Given the description of an element on the screen output the (x, y) to click on. 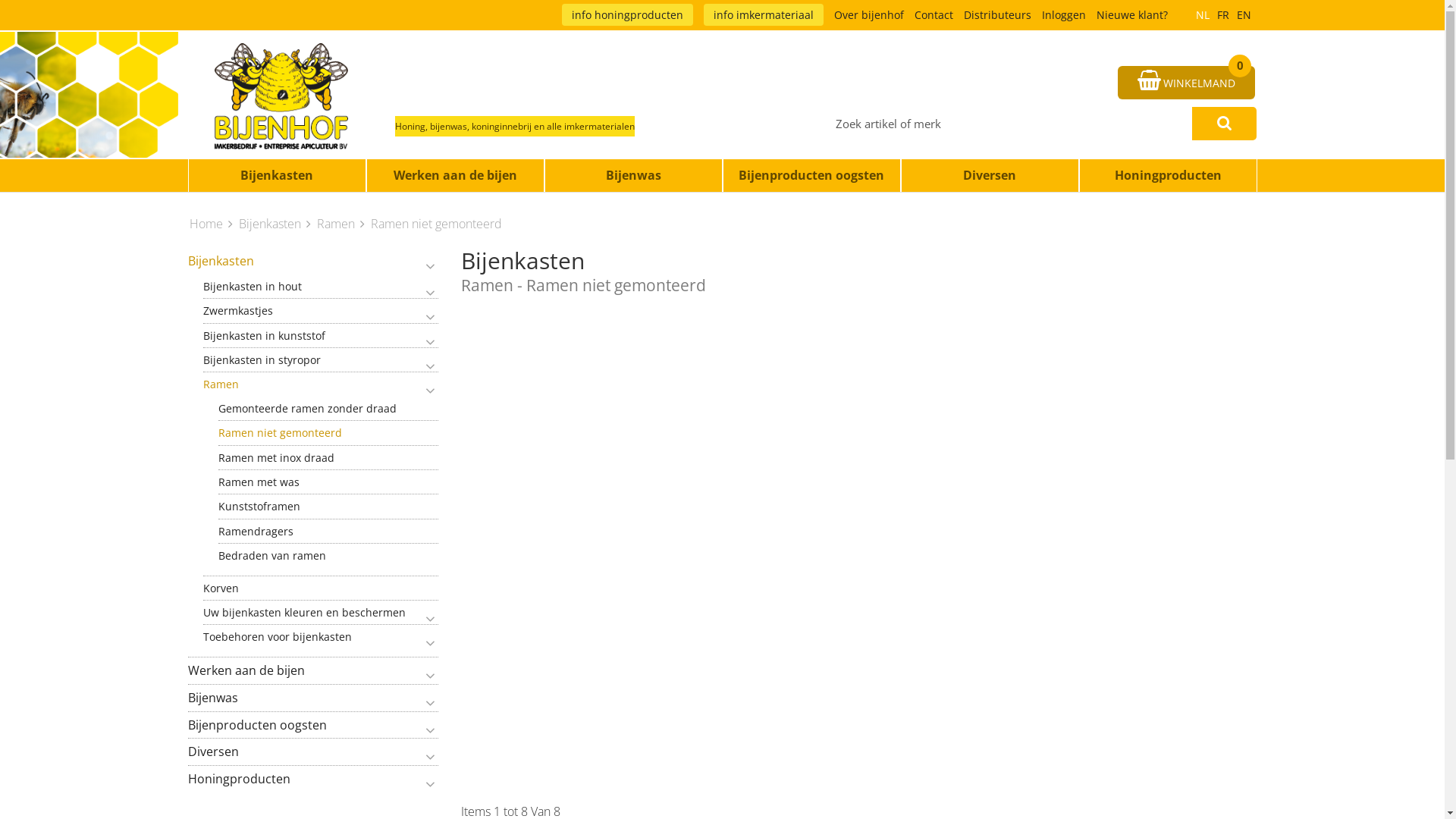
Ramen niet gemonteerd Element type: text (328, 432)
EN Element type: text (1243, 15)
Bijenproducten oogsten Element type: text (313, 725)
Inloggen Element type: text (1063, 14)
Bijenproducten oogsten Element type: text (810, 175)
Honingproducten Element type: text (313, 778)
Over bijenhof Element type: text (868, 14)
WINKELMAND
0 Element type: text (1186, 82)
Kunststoframen Element type: text (328, 505)
Diversen Element type: text (313, 751)
Nieuwe klant? Element type: text (1131, 14)
Contact Element type: text (933, 14)
Zwermkastjes Element type: text (320, 310)
Ramen Element type: text (342, 223)
Bijenwas Element type: text (313, 697)
Bijenkasten Element type: text (275, 223)
Bijenkasten Element type: text (313, 260)
Werken aan de bijen Element type: text (454, 175)
Gemonteerde ramen zonder draad Element type: text (328, 408)
Bijenkasten in hout Element type: text (320, 286)
FR Element type: text (1222, 15)
Bijenkasten Element type: text (277, 175)
Ramen met was Element type: text (328, 481)
Ramen niet gemonteerd Element type: text (435, 223)
Ramen Element type: text (320, 383)
info honingproducten Element type: text (626, 14)
Home Element type: text (212, 223)
Korven Element type: text (320, 587)
Bijenkasten in styropor Element type: text (320, 359)
Ramen met inox draad Element type: text (328, 457)
info imkermateriaal Element type: text (763, 14)
Honingproducten Element type: text (1167, 175)
Uw bijenkasten kleuren en beschermen Element type: text (320, 612)
Diversen Element type: text (989, 175)
Distributeurs Element type: text (996, 14)
Bedraden van ramen Element type: text (328, 555)
Toebehoren voor bijenkasten Element type: text (320, 636)
Bijenkasten in kunststof Element type: text (320, 335)
Ramendragers Element type: text (328, 530)
Bijenwas Element type: text (633, 175)
NL Element type: text (1202, 15)
Werken aan de bijen Element type: text (313, 670)
